Given the description of an element on the screen output the (x, y) to click on. 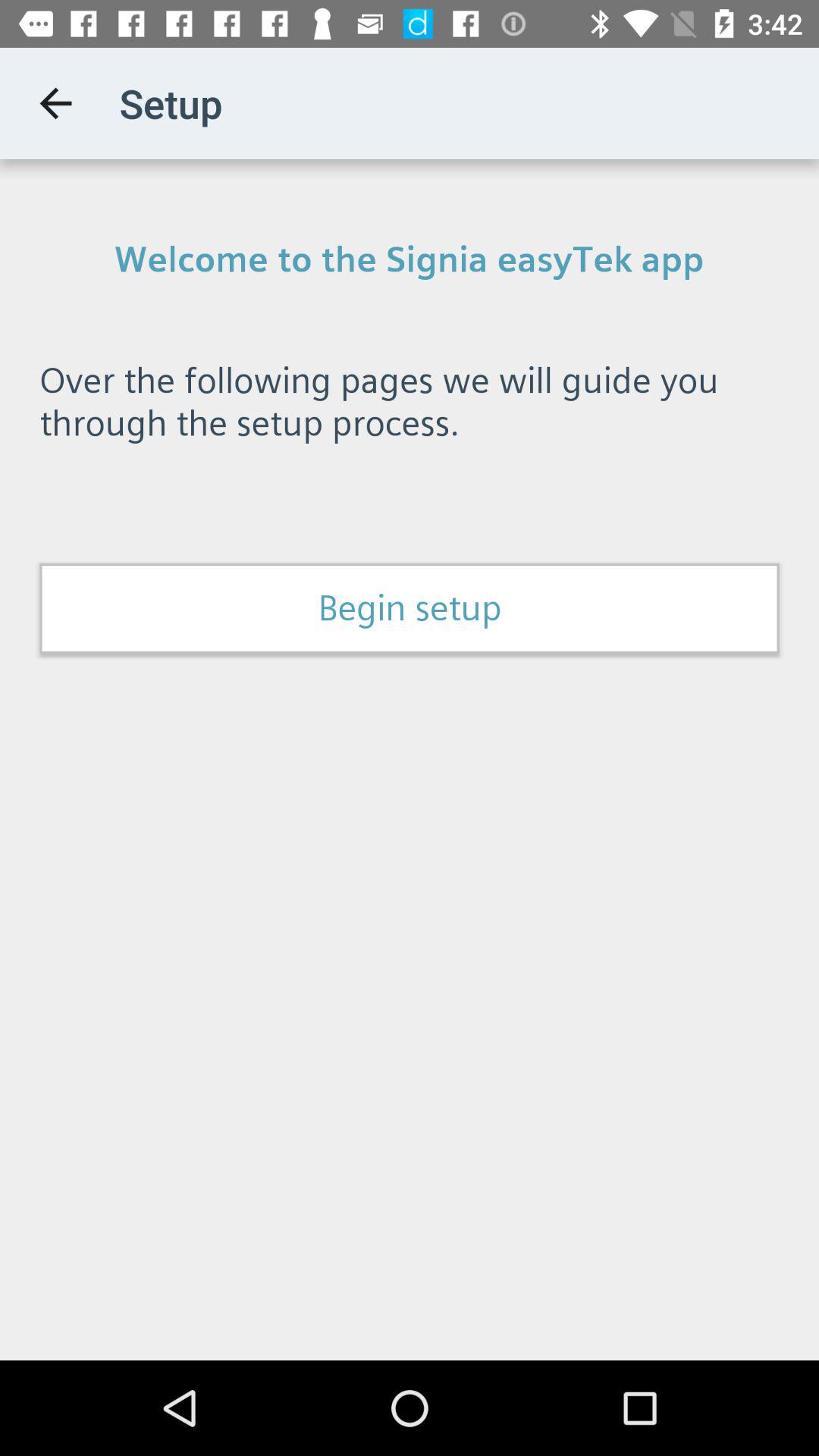
flip to the begin setup (409, 608)
